Given the description of an element on the screen output the (x, y) to click on. 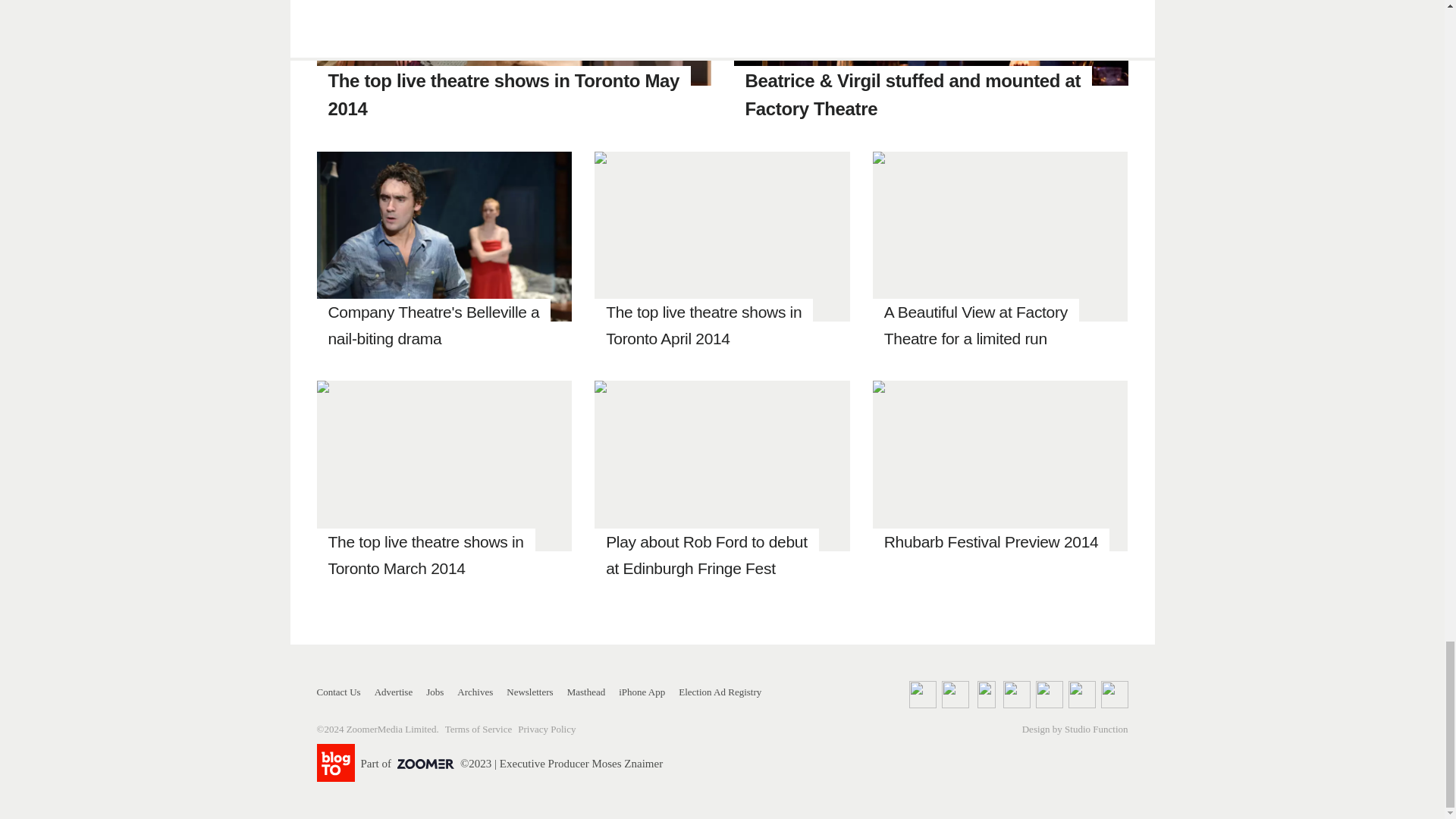
Archives (475, 691)
Election Ad Registry (719, 691)
Newsletters (529, 691)
Advertise (393, 691)
Jobs (435, 691)
Contact Us (339, 691)
iPhone App (641, 691)
Masthead (586, 691)
